Given the description of an element on the screen output the (x, y) to click on. 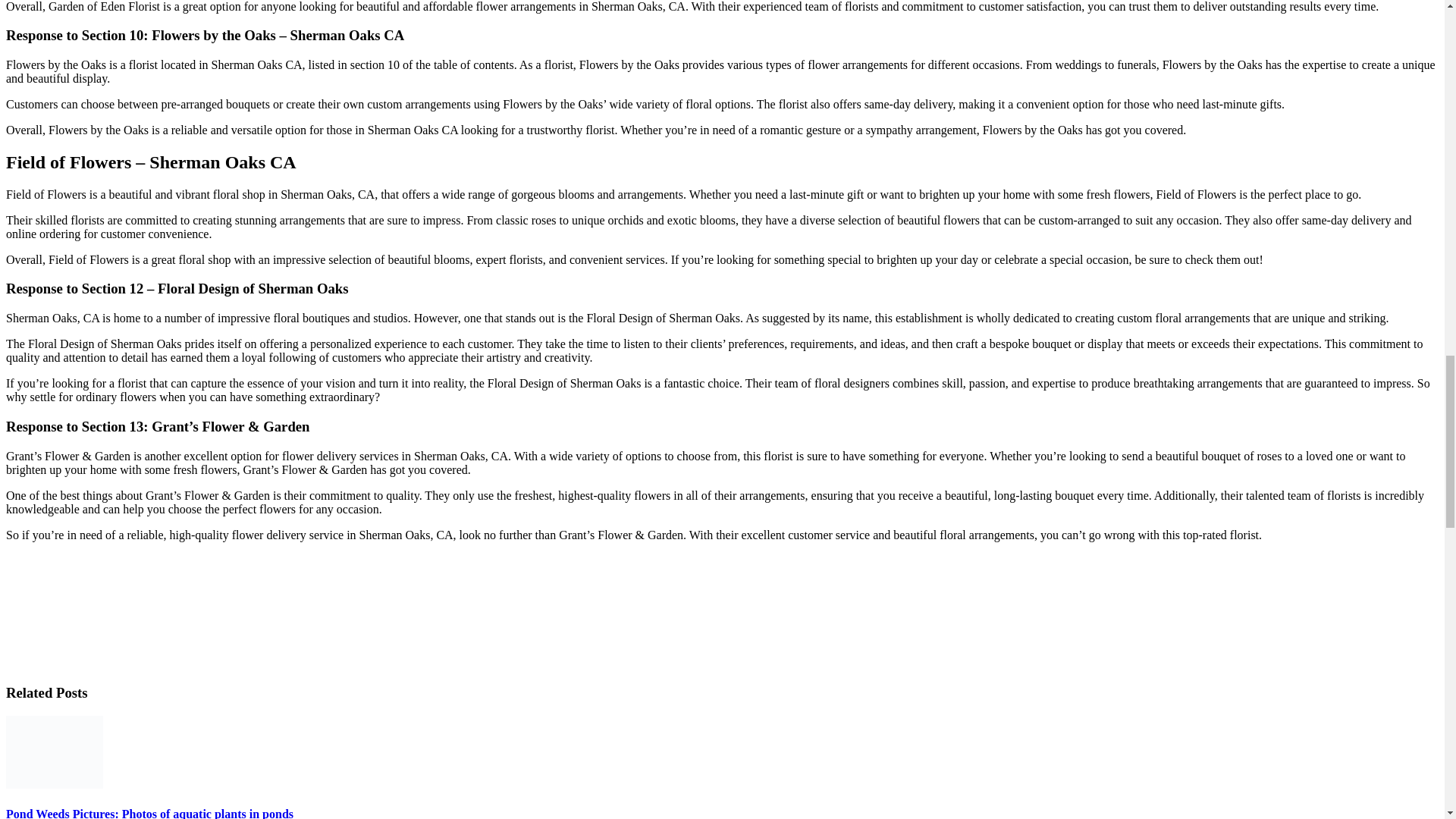
Florist In Sherman Oaks Ca (118, 611)
